Given the description of an element on the screen output the (x, y) to click on. 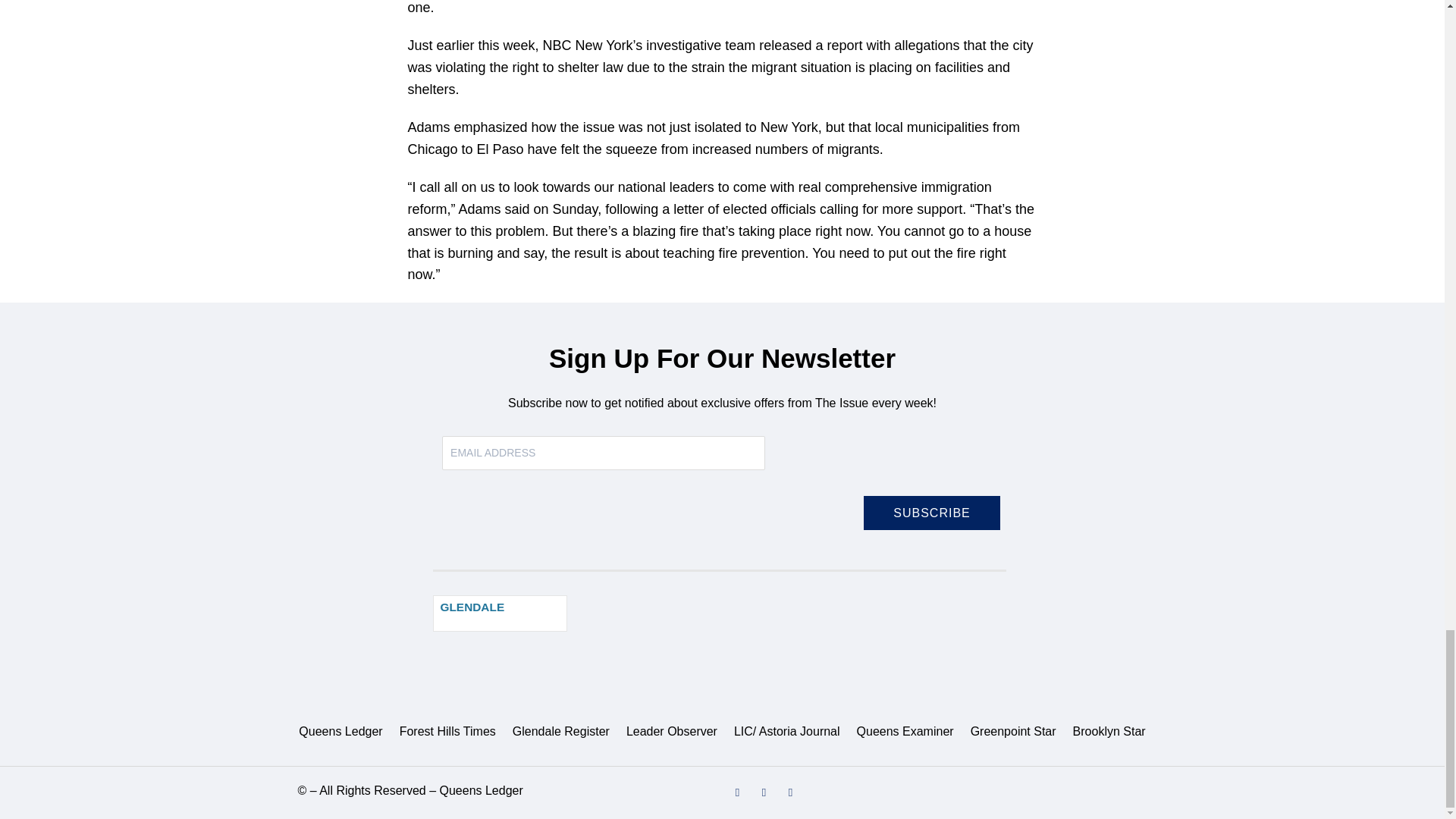
Subscribe (931, 512)
GLENDALE (500, 613)
GLENDALE (471, 606)
